Given the description of an element on the screen output the (x, y) to click on. 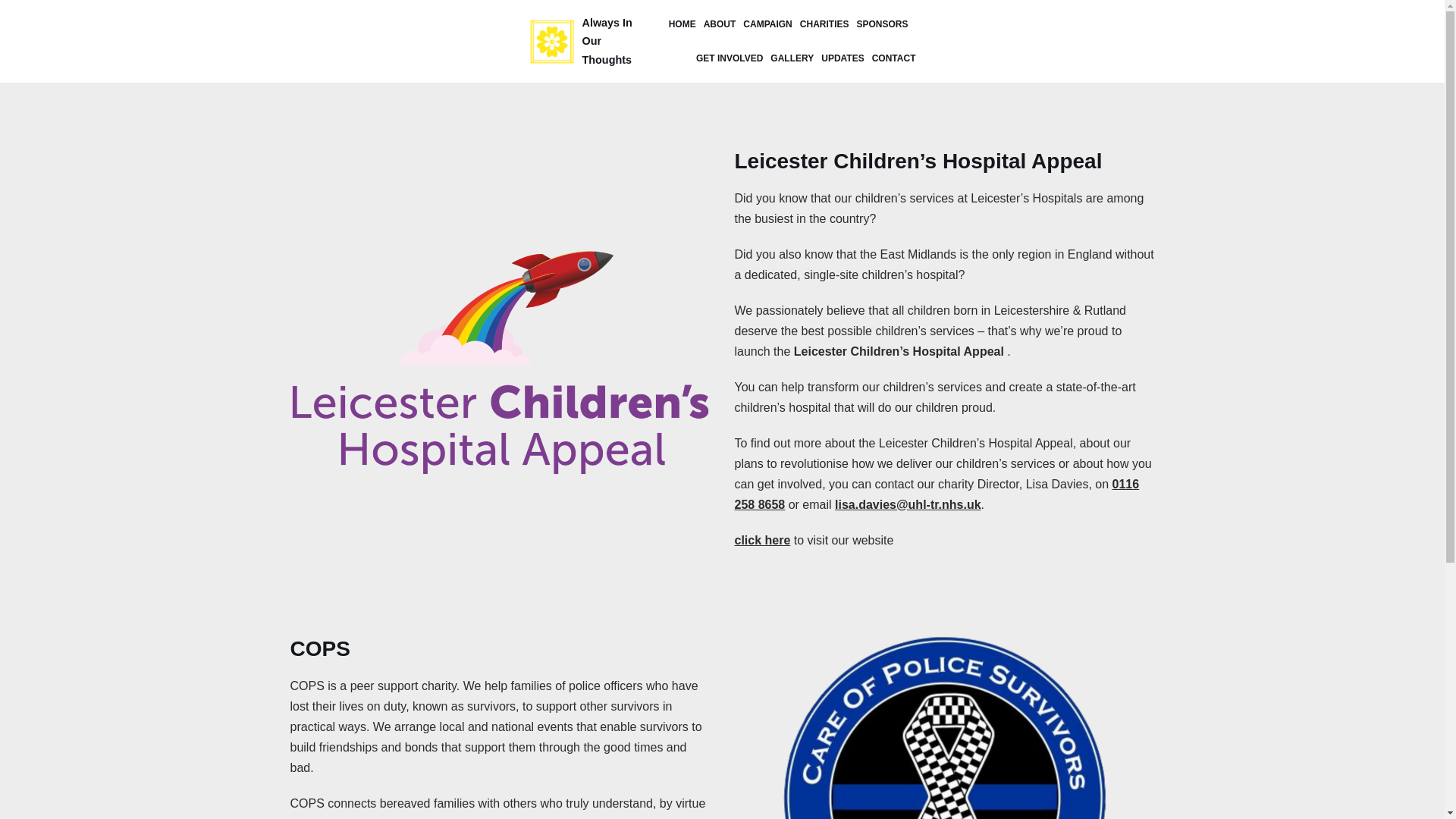
ABOUT (719, 24)
Always In Our Thoughts (586, 40)
GET INVOLVED (728, 58)
Always In Our Thoughts (586, 40)
0116 258 8658 (935, 494)
HOME (681, 24)
SPONSORS (881, 24)
UPDATES (842, 58)
CONTACT (893, 58)
Skip to content (15, 31)
GALLERY (791, 58)
CAMPAIGN (767, 24)
CHARITIES (823, 24)
click here (761, 540)
